Given the description of an element on the screen output the (x, y) to click on. 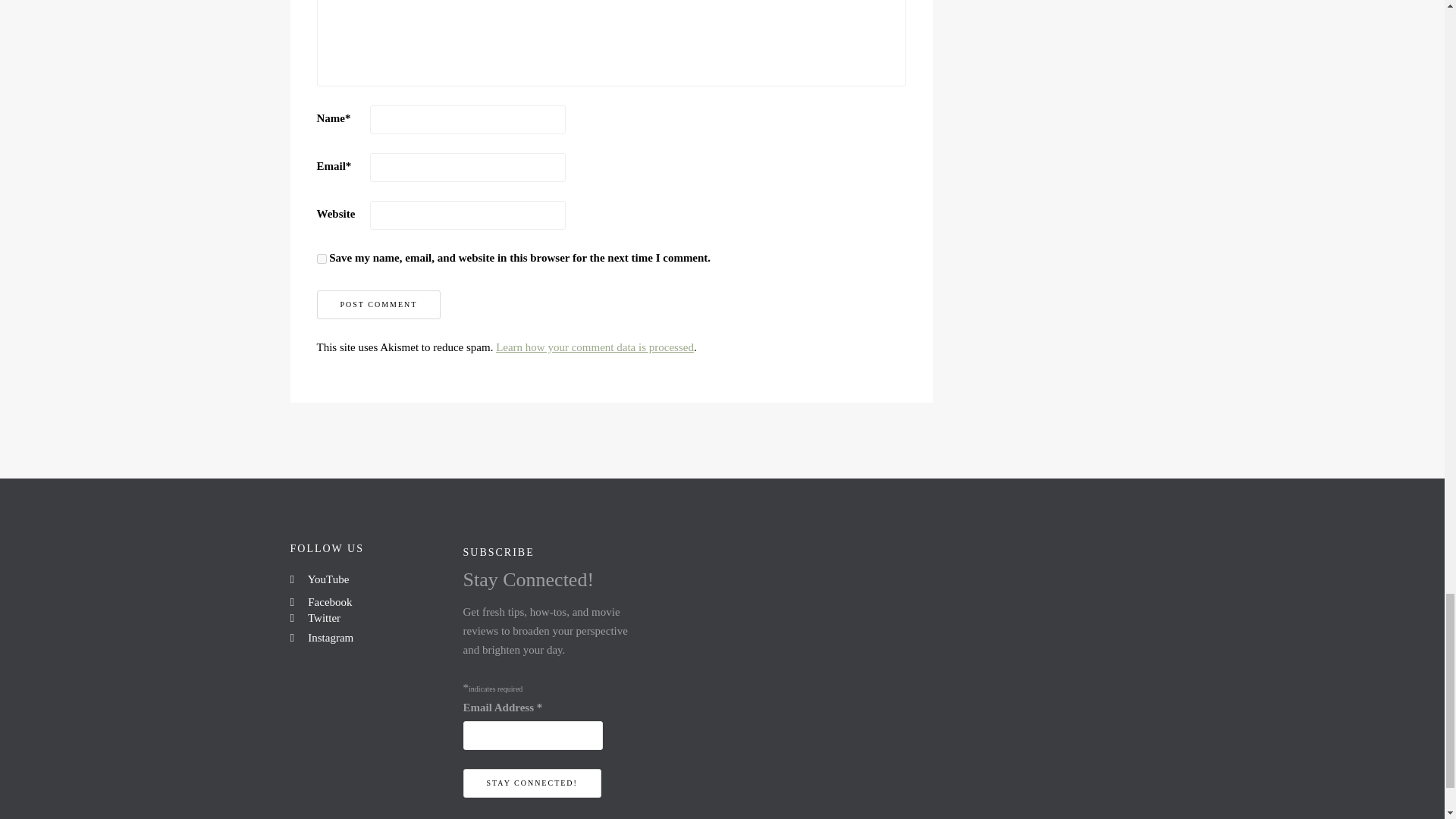
yes (321, 258)
Post comment (379, 304)
Stay Connected! (531, 783)
Learn how your comment data is processed (595, 346)
Post comment (379, 304)
